Given the description of an element on the screen output the (x, y) to click on. 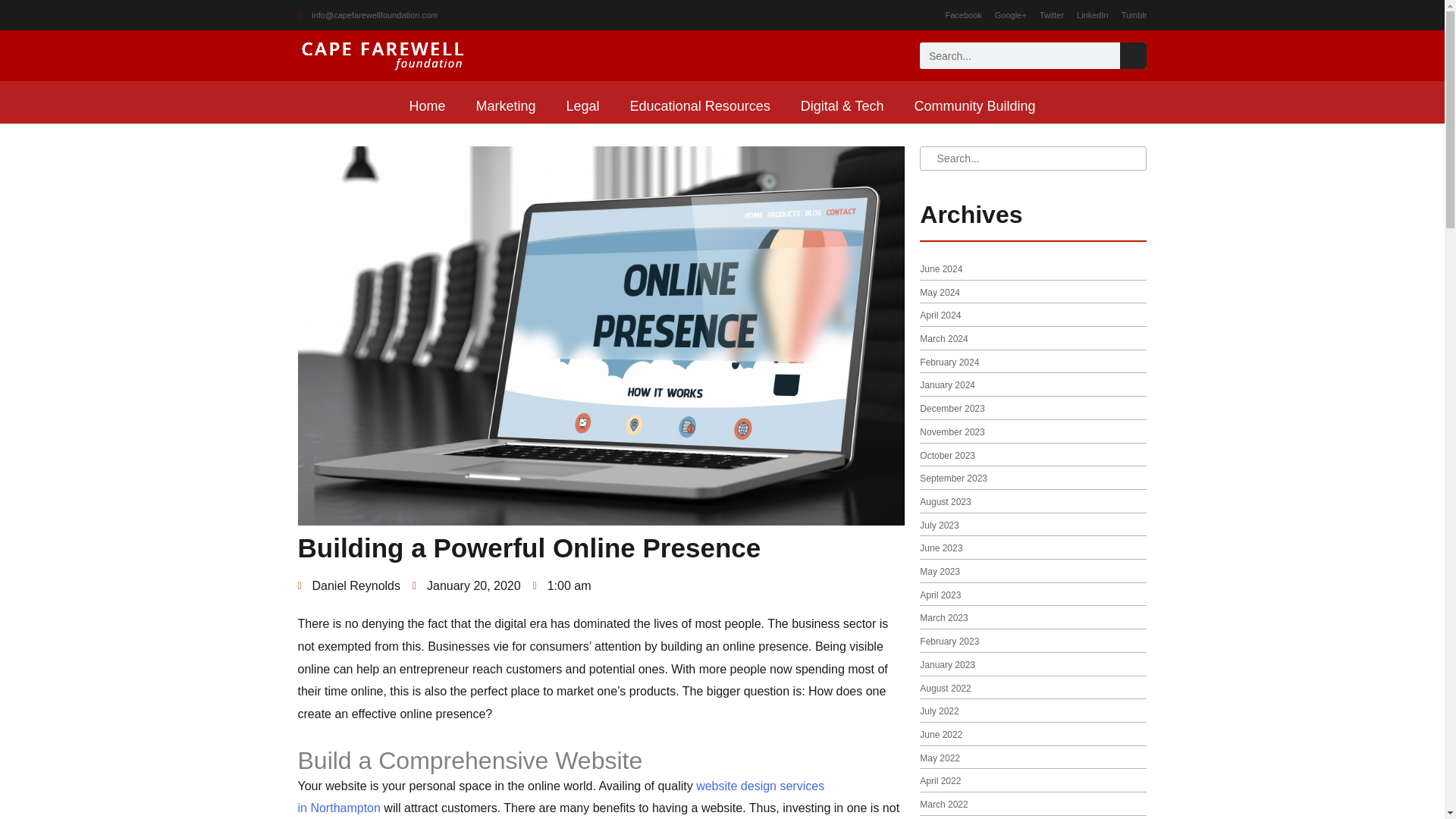
November 2023 (952, 431)
April 2024 (940, 315)
June 2023 (941, 547)
July 2022 (939, 710)
February 2024 (949, 362)
Home (426, 105)
YUMYUM (560, 796)
August 2023 (945, 501)
Search (1133, 55)
December 2023 (952, 408)
Marketing (506, 105)
August 2022 (945, 688)
June 2024 (941, 268)
website design services in Northampton (560, 796)
February 2023 (949, 641)
